Given the description of an element on the screen output the (x, y) to click on. 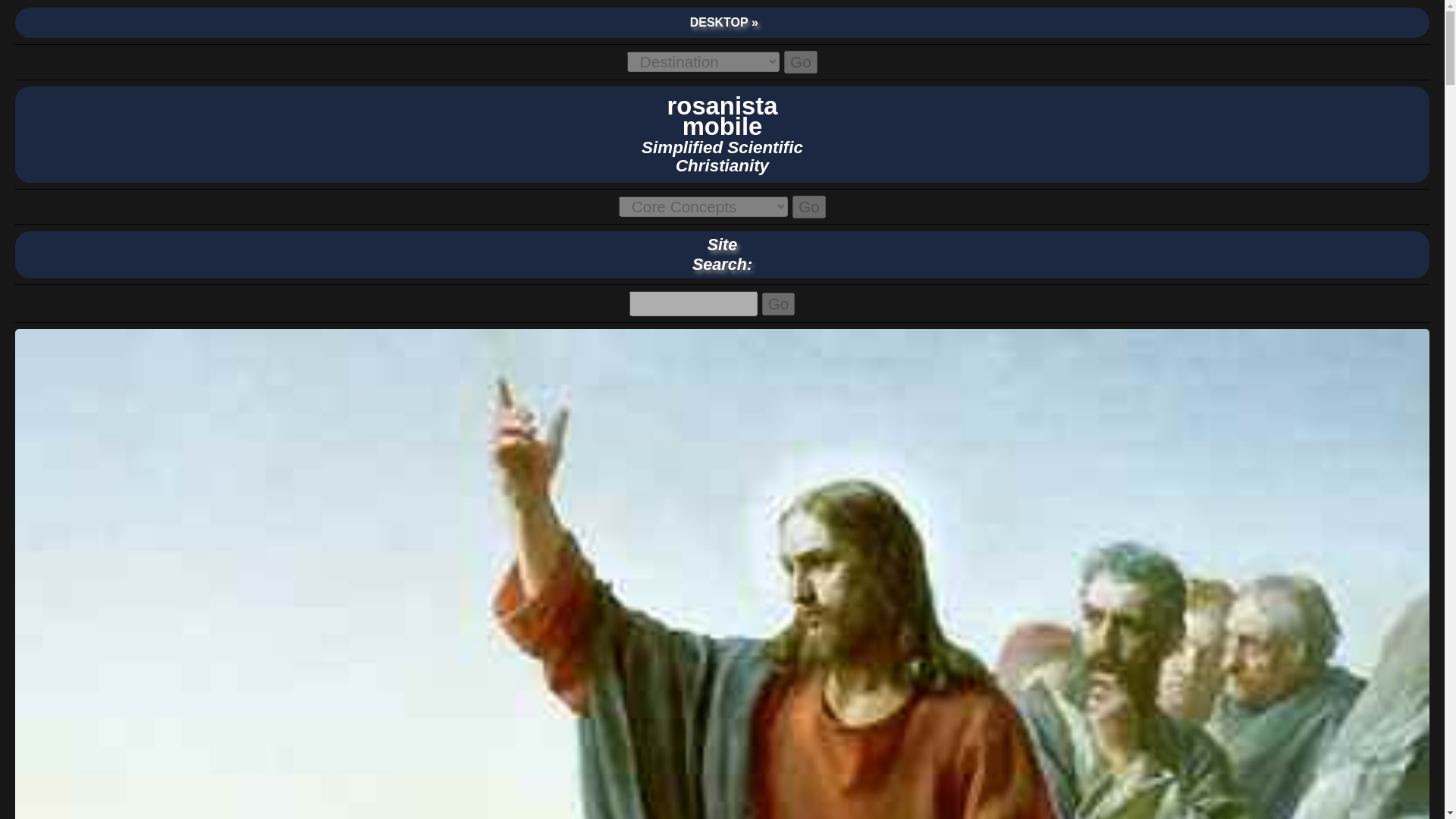
Go (808, 206)
Go (777, 303)
Go (800, 61)
Go (777, 303)
